Given the description of an element on the screen output the (x, y) to click on. 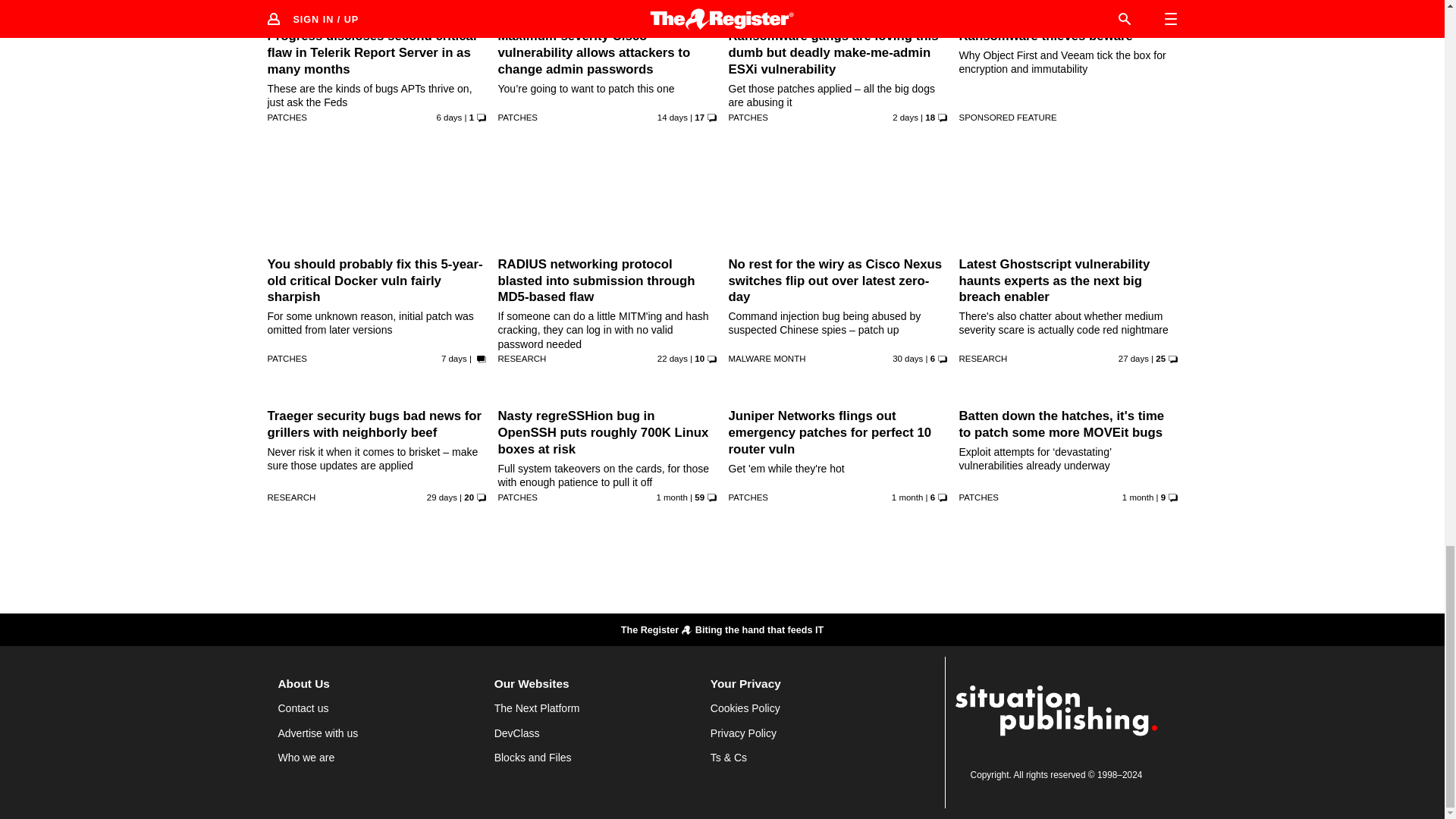
1 Jul 2024 14:1 (671, 497)
3 Jul 2024 16:24 (441, 497)
2 Jul 2024 16:37 (907, 358)
10 Jul 2024 3:15 (672, 358)
18 Jul 2024 10:37 (672, 117)
5 Jul 2024 12:34 (1133, 358)
26 Jul 2024 13:32 (449, 117)
25 Jul 2024 13:46 (454, 358)
30 Jul 2024 11:16 (905, 117)
